Given the description of an element on the screen output the (x, y) to click on. 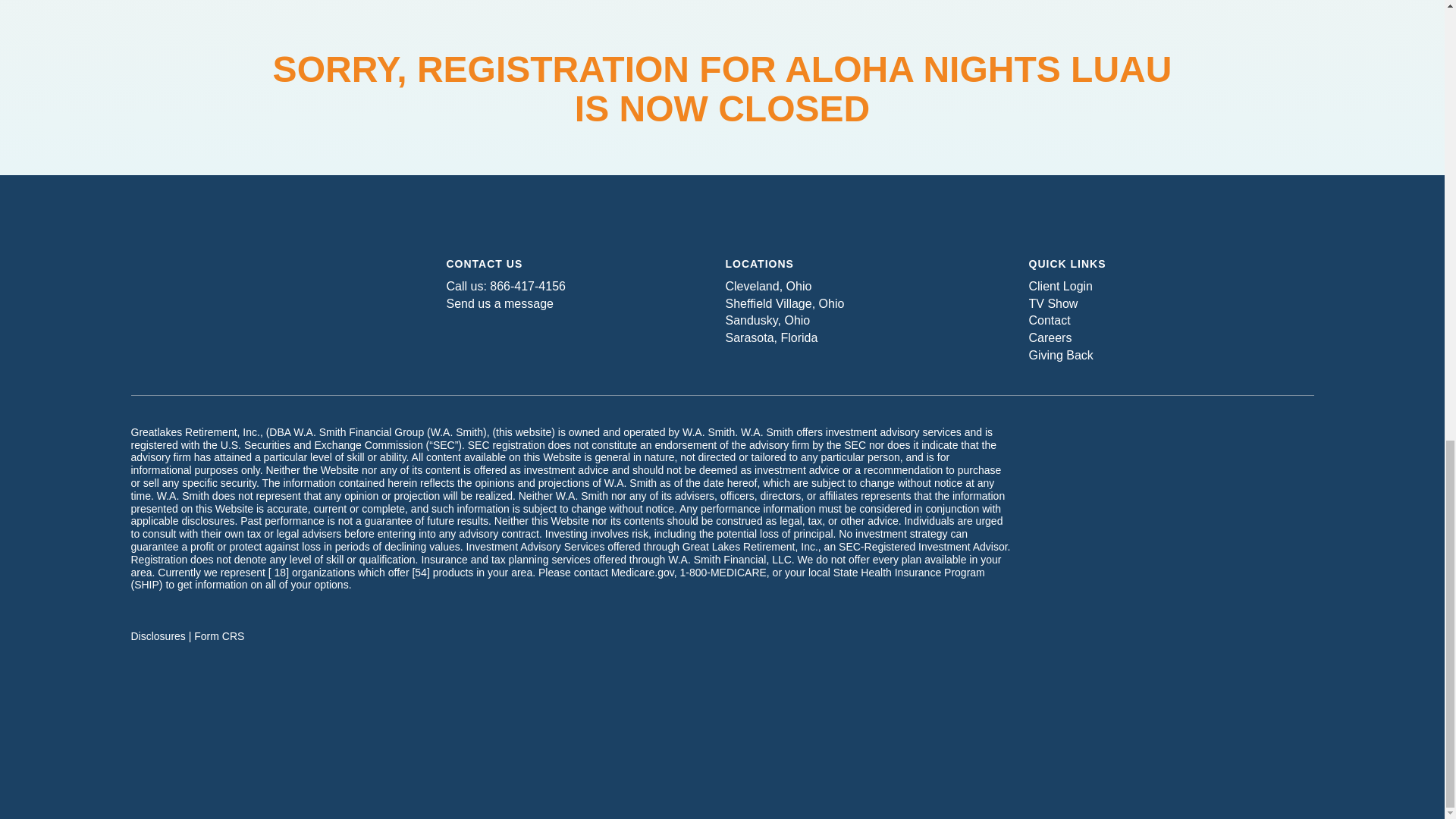
Sandusky, Ohio (767, 319)
Sarasota, Florida (770, 337)
Contact (1048, 319)
Client Login (1060, 286)
TV Show (1052, 303)
Sheffield Village, Ohio (784, 303)
Call us: 866-417-4156 (504, 286)
Cleveland, Ohio (767, 286)
W.A. Smith Financial Group Logo (272, 286)
Send us a message (499, 303)
